Given the description of an element on the screen output the (x, y) to click on. 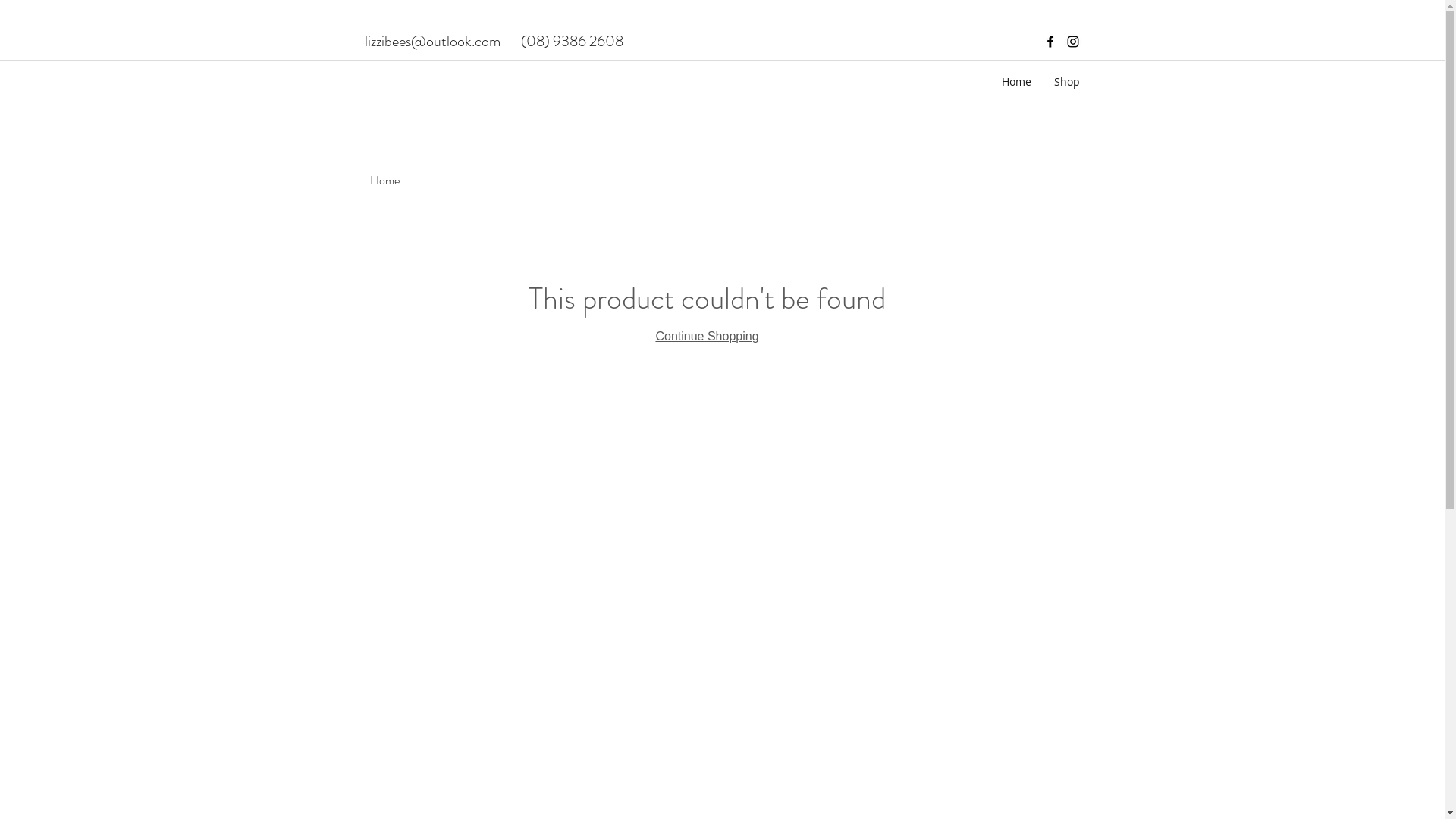
Home Element type: text (384, 179)
Shop Element type: text (1065, 81)
lizzibees@outlook.com Element type: text (431, 41)
Home Element type: text (1016, 81)
Continue Shopping Element type: text (706, 335)
